Given the description of an element on the screen output the (x, y) to click on. 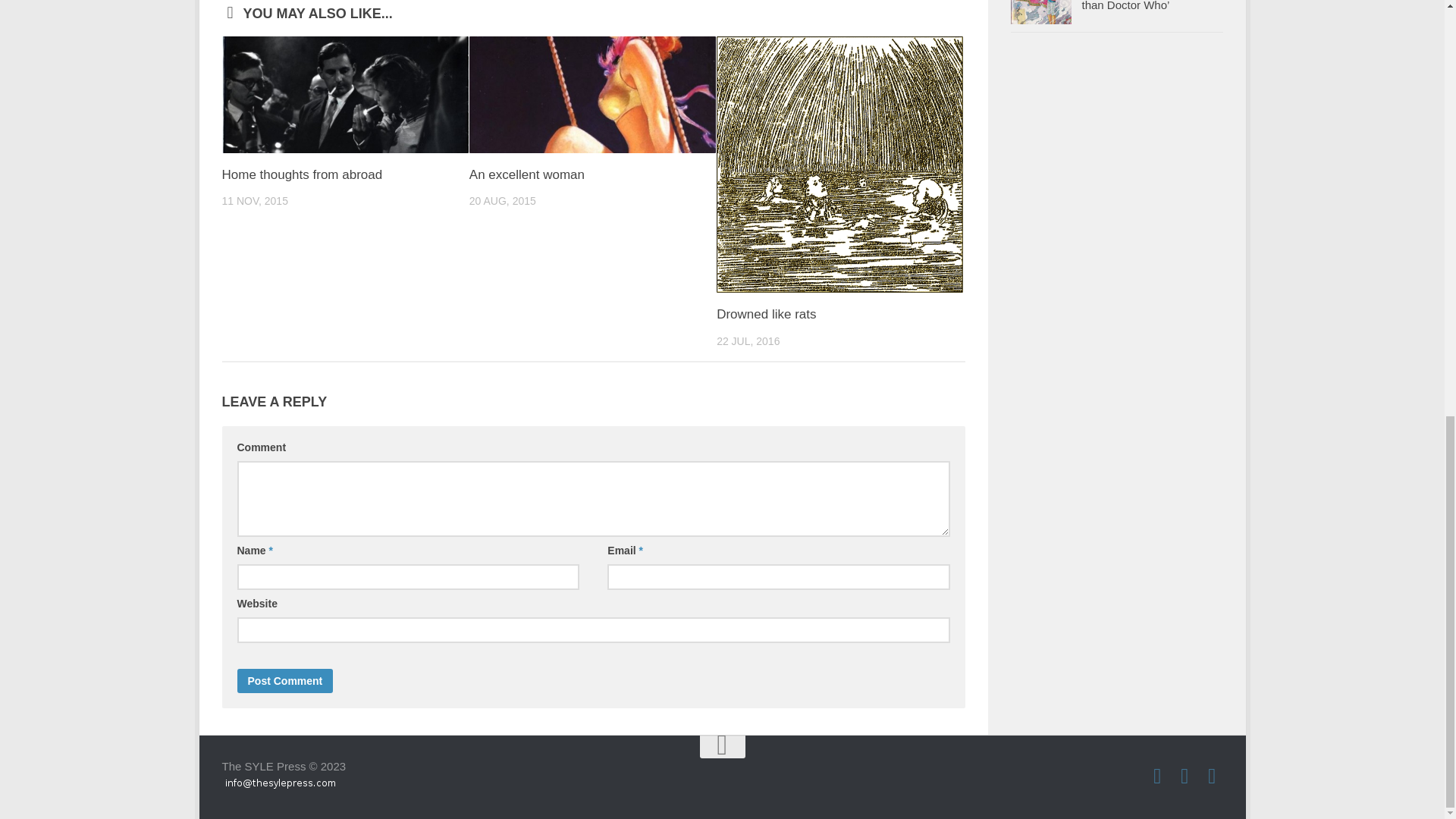
Home thoughts from abroad (301, 174)
Post Comment (284, 680)
Post Comment (284, 680)
An excellent woman (592, 94)
Home thoughts from abroad (344, 94)
An excellent woman (526, 174)
Drowned like rats (839, 164)
Drowned like rats (765, 314)
An excellent woman (526, 174)
Drowned like rats (765, 314)
